Given the description of an element on the screen output the (x, y) to click on. 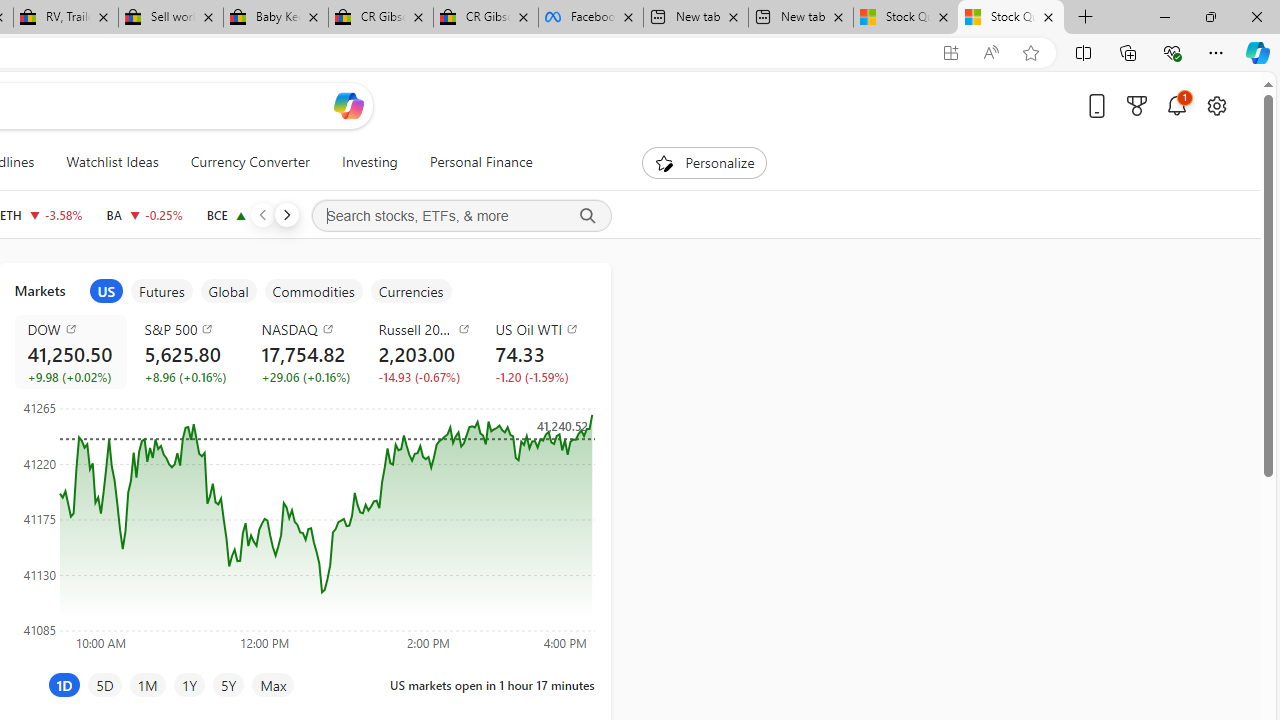
Russell 2000 RUT decrease 2,203.00 -14.93 -0.67% (420, 351)
BA THE BOEING COMPANY decrease 173.05 -0.43 -0.25% (143, 214)
Investing (369, 162)
DOW (73, 328)
S&P 500 (190, 328)
App available. Install Start Money (950, 53)
5D (104, 684)
Personal Finance (472, 162)
US (106, 291)
Sell worldwide with eBay (170, 17)
